Given the description of an element on the screen output the (x, y) to click on. 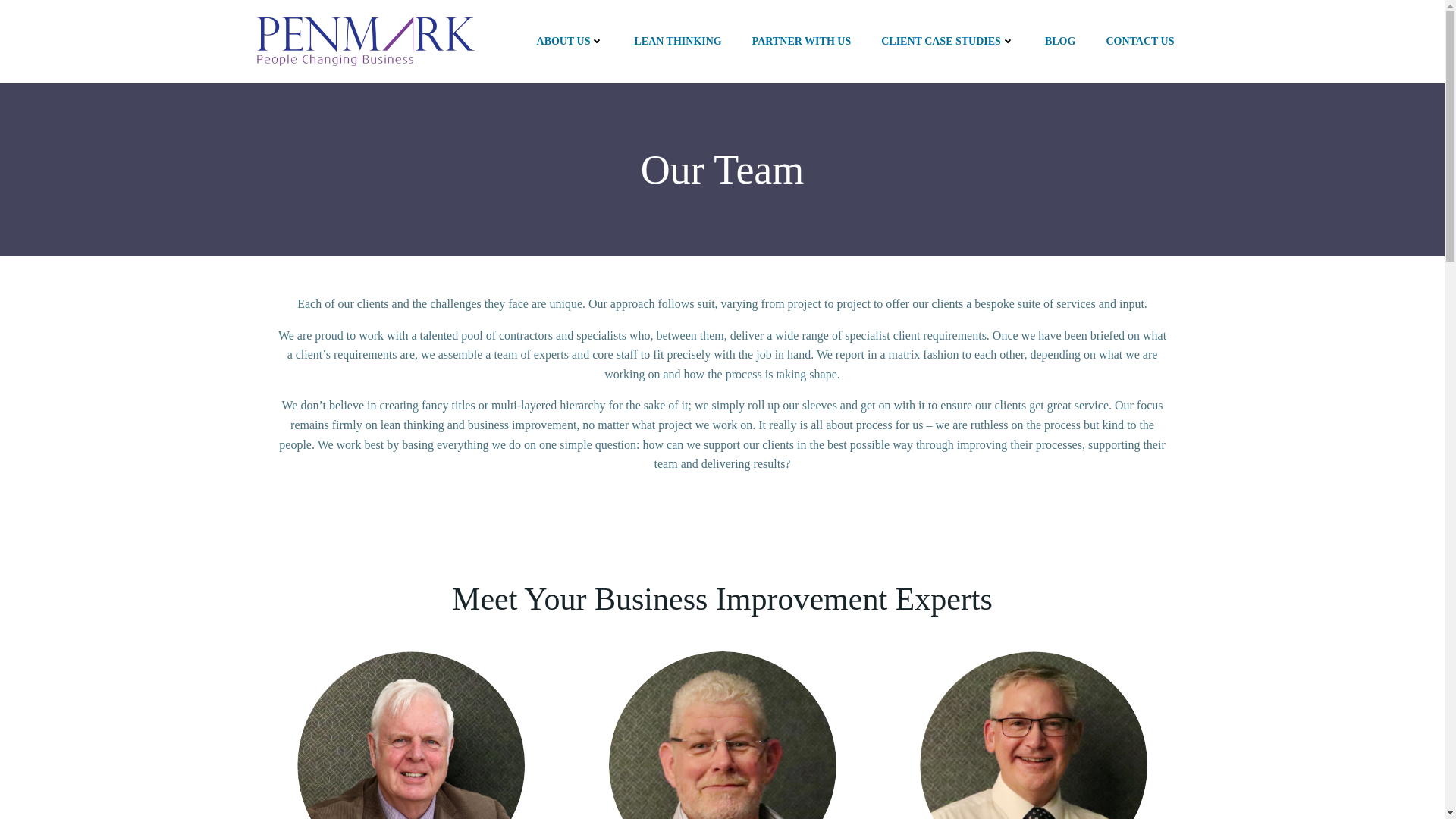
BLOG (1060, 41)
ABOUT US (570, 41)
CONTACT US (1139, 41)
LEAN THINKING (676, 41)
Colibri (858, 773)
PARTNER WITH US (801, 41)
CLIENT CASE STUDIES (947, 41)
